Given the description of an element on the screen output the (x, y) to click on. 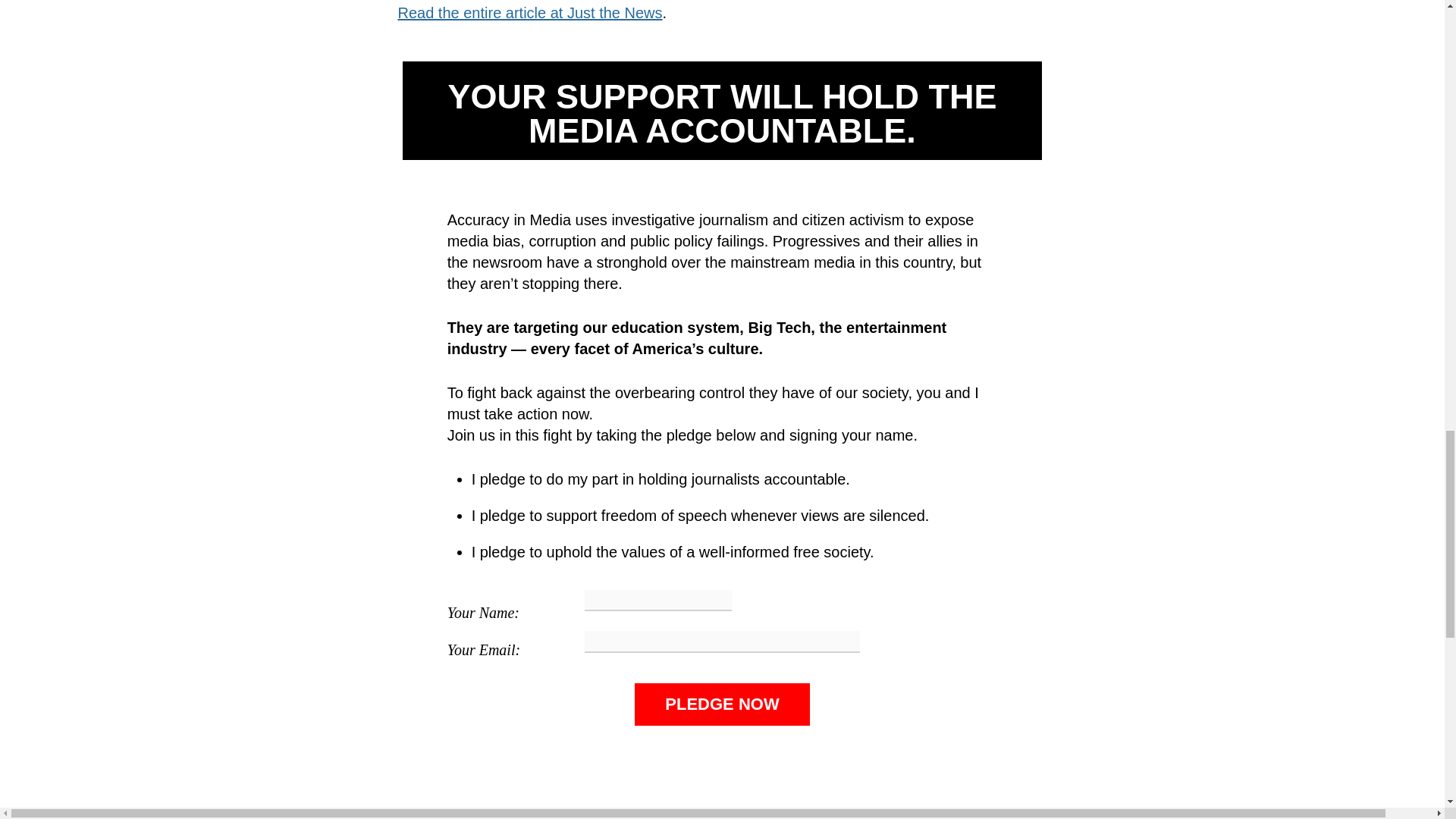
PLEDGE NOW (721, 704)
PLEDGE NOW (721, 704)
Read the entire article at Just the News (529, 12)
